Given the description of an element on the screen output the (x, y) to click on. 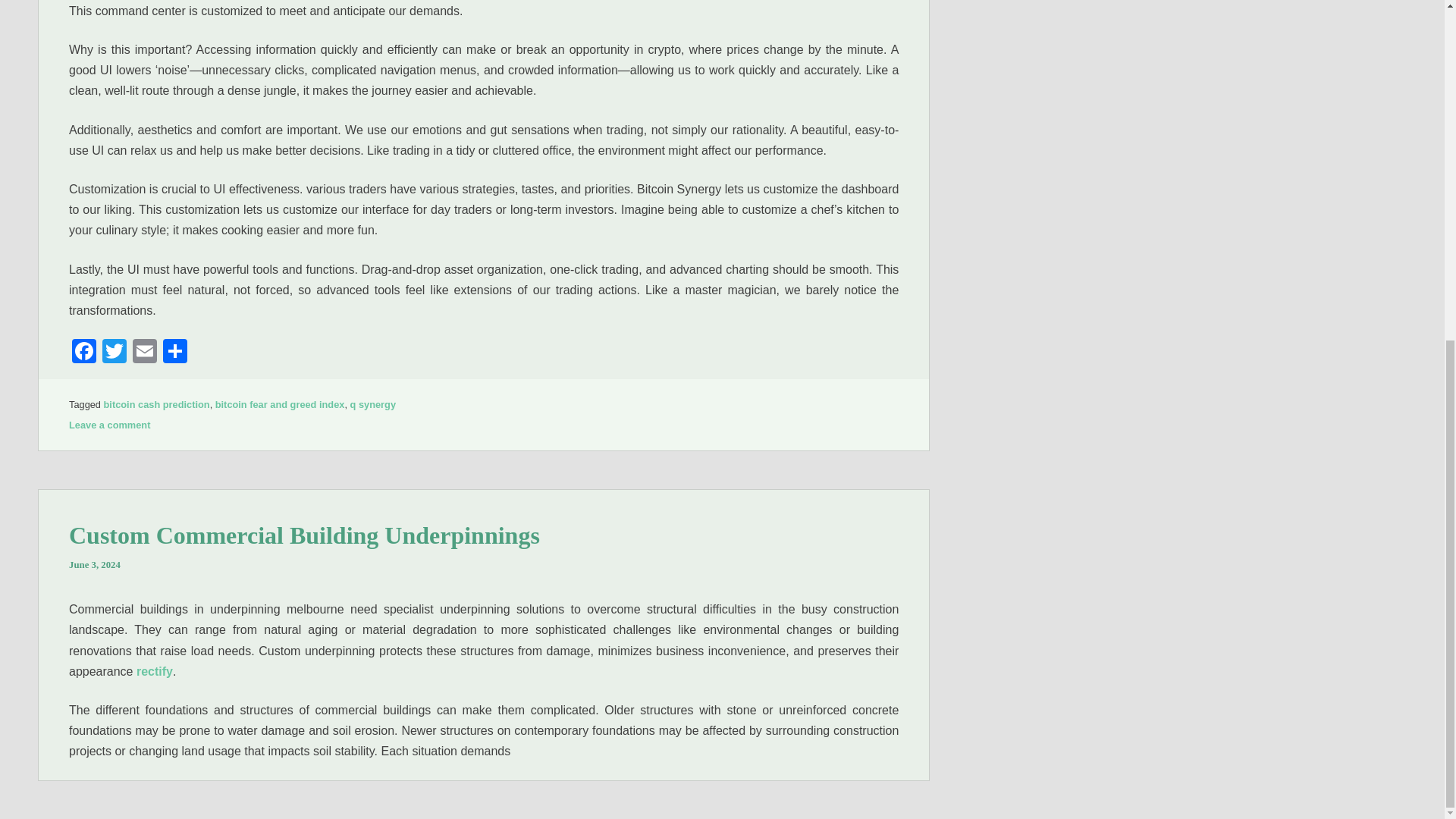
Email (144, 352)
Leave a comment (108, 424)
Facebook (83, 352)
Twitter (114, 352)
bitcoin fear and greed index (280, 404)
Custom Commercial Building Underpinnings (304, 534)
Email (144, 352)
June 3, 2024 (94, 564)
bitcoin cash prediction (156, 404)
rectify (154, 671)
